Given the description of an element on the screen output the (x, y) to click on. 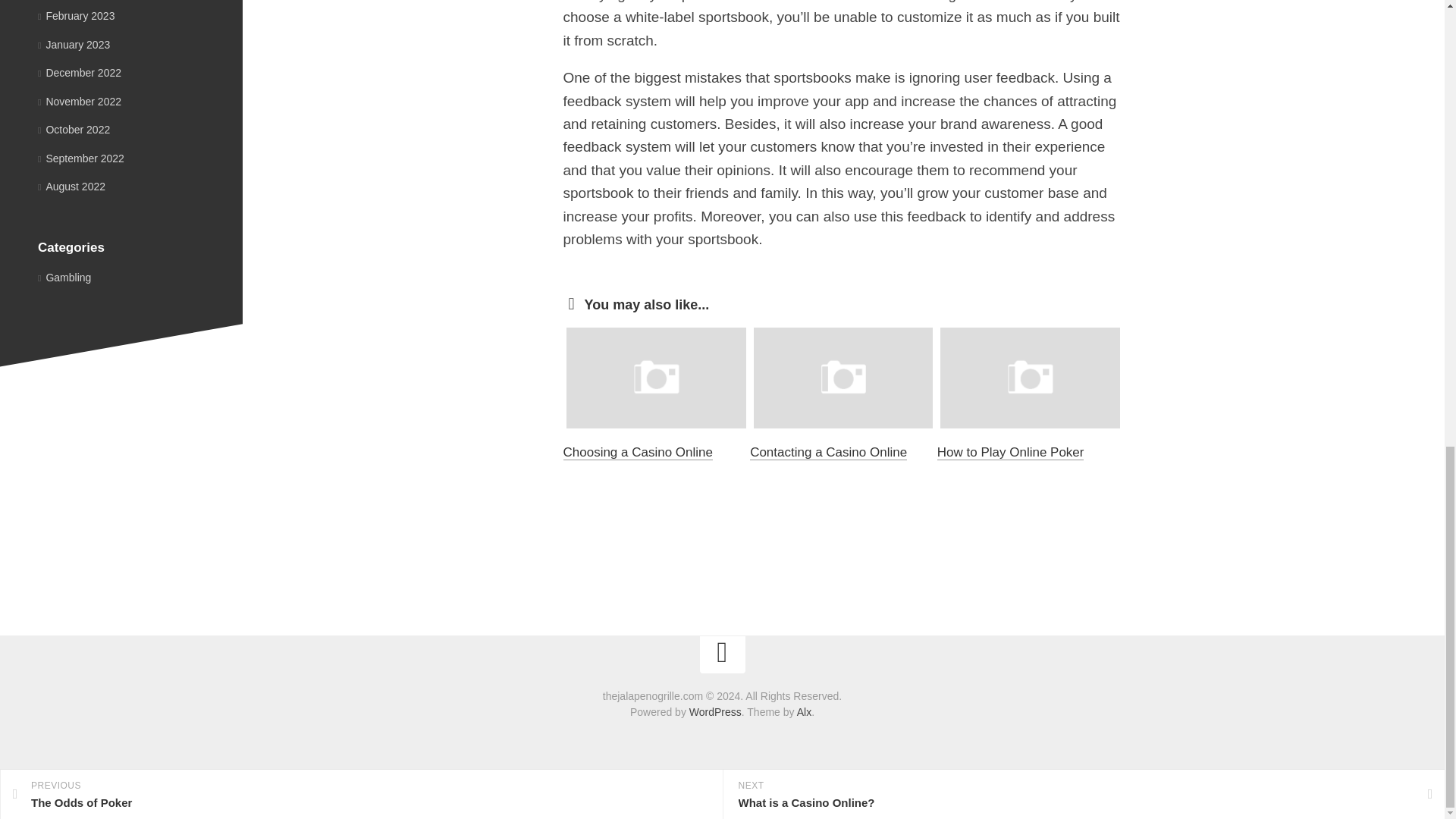
How to Play Online Poker (1010, 452)
January 2023 (73, 44)
December 2022 (78, 72)
November 2022 (78, 101)
February 2023 (76, 15)
Contacting a Casino Online (828, 452)
Choosing a Casino Online (637, 452)
